Given the description of an element on the screen output the (x, y) to click on. 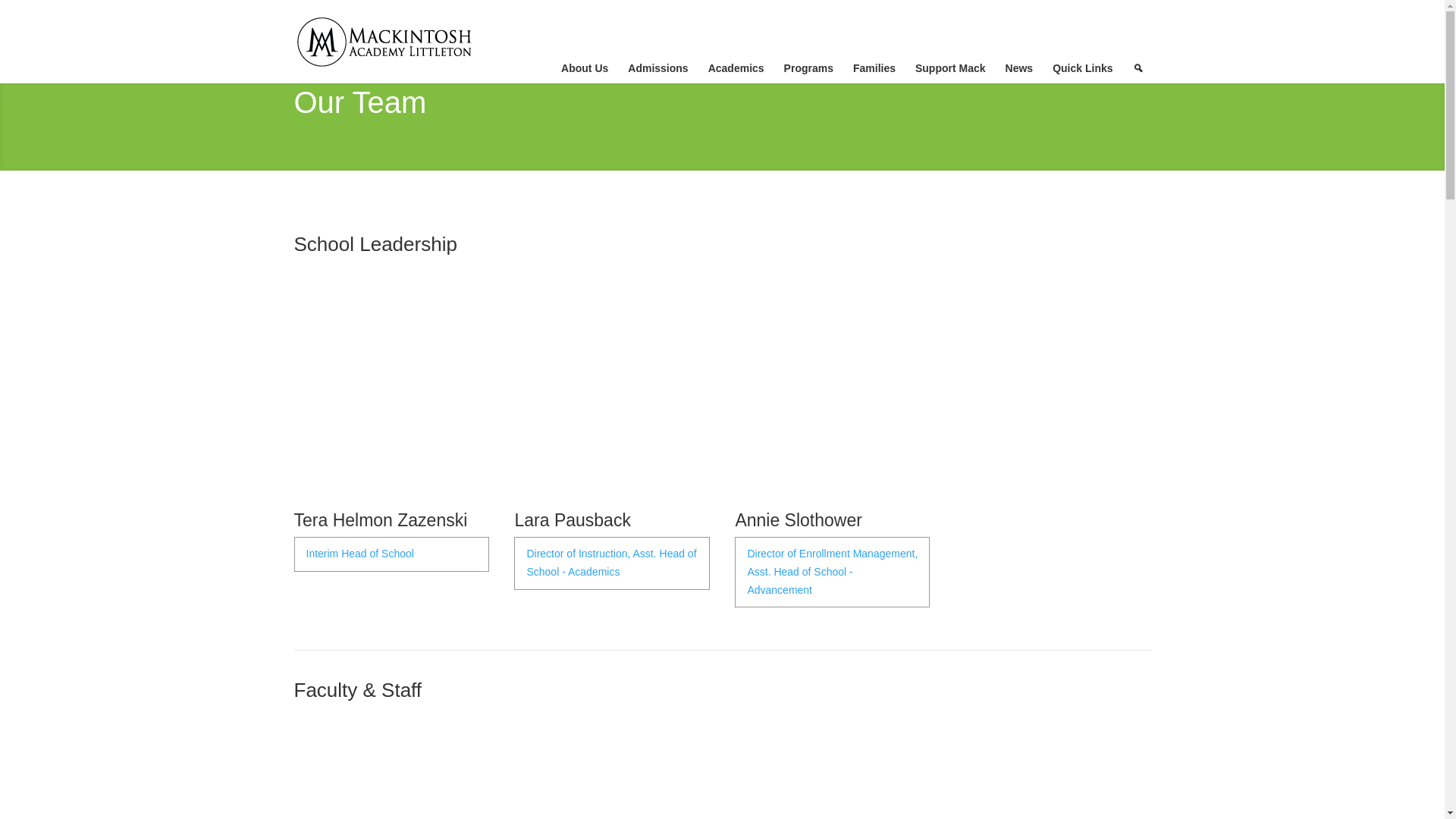
Families (876, 68)
Programs (810, 68)
About Us (586, 68)
Admissions (660, 68)
Support Mack (952, 68)
Academics (738, 68)
